Given the description of an element on the screen output the (x, y) to click on. 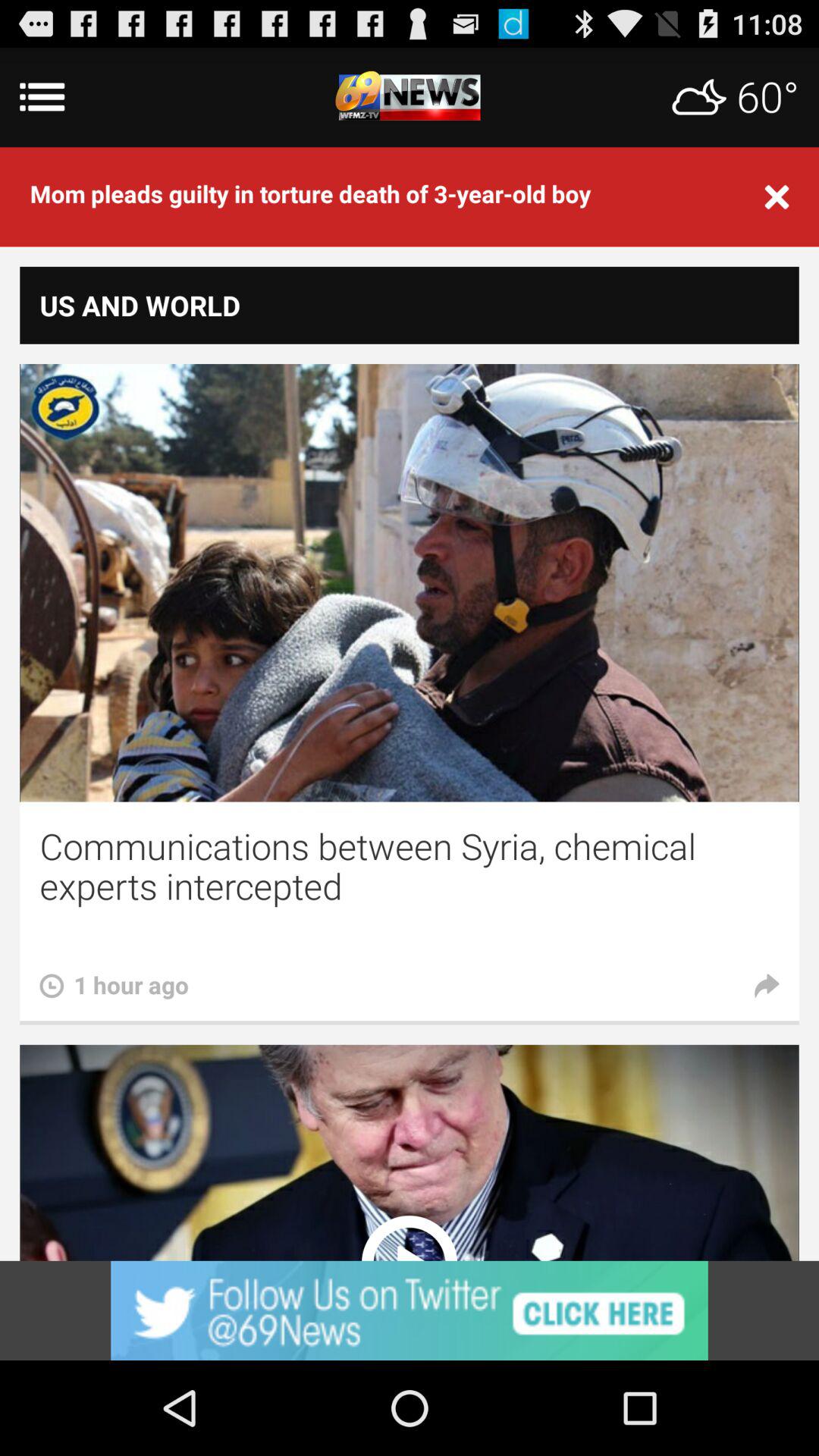
go to advertisement (409, 1310)
